Given the description of an element on the screen output the (x, y) to click on. 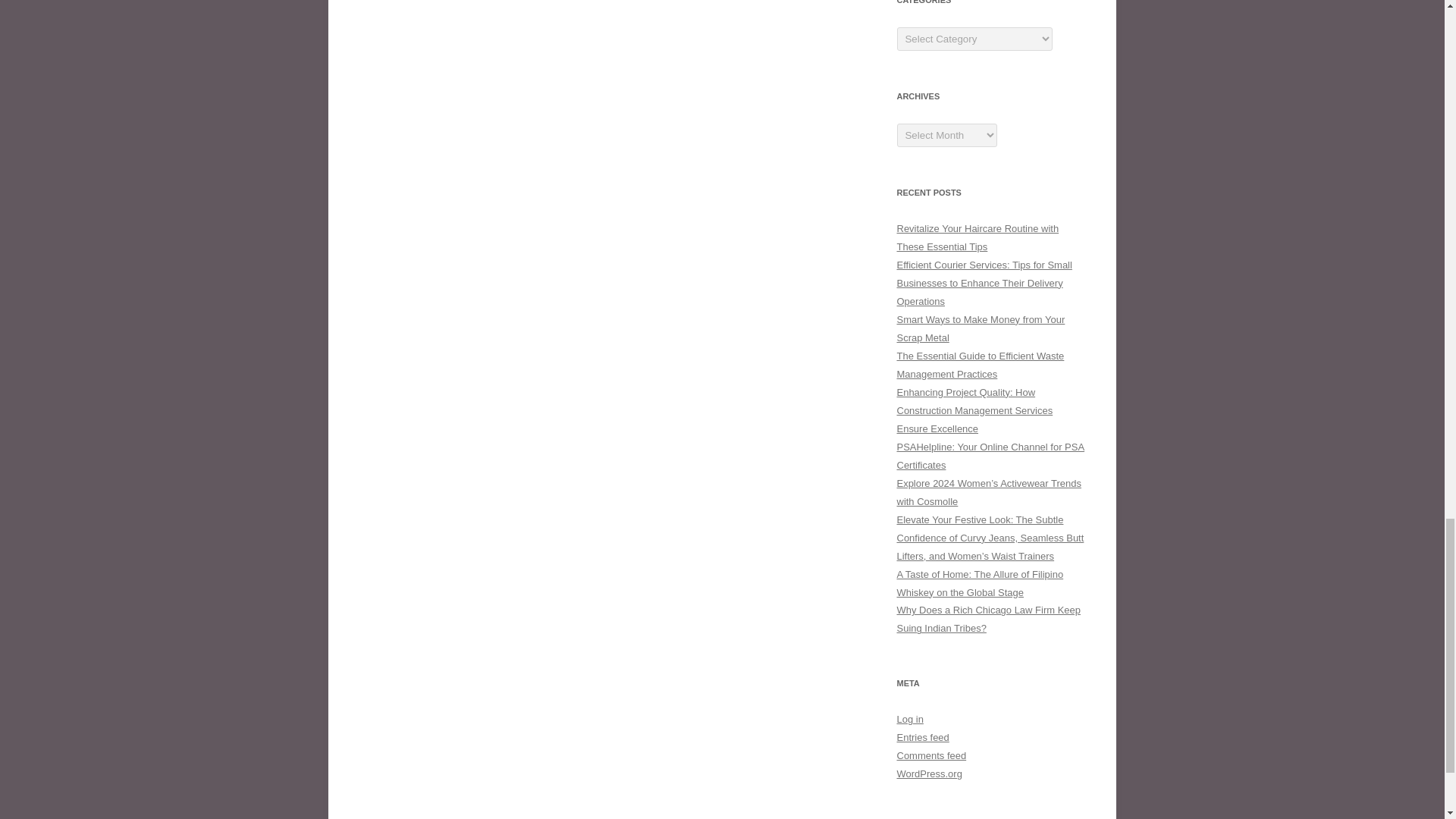
Smart Ways to Make Money from Your Scrap Metal (980, 328)
The Essential Guide to Efficient Waste Management Practices (980, 365)
Revitalize Your Haircare Routine with These Essential Tips (977, 237)
Why Does a Rich Chicago Law Firm Keep Suing Indian Tribes? (988, 618)
PSAHelpline: Your Online Channel for PSA Certificates (990, 455)
